Given the description of an element on the screen output the (x, y) to click on. 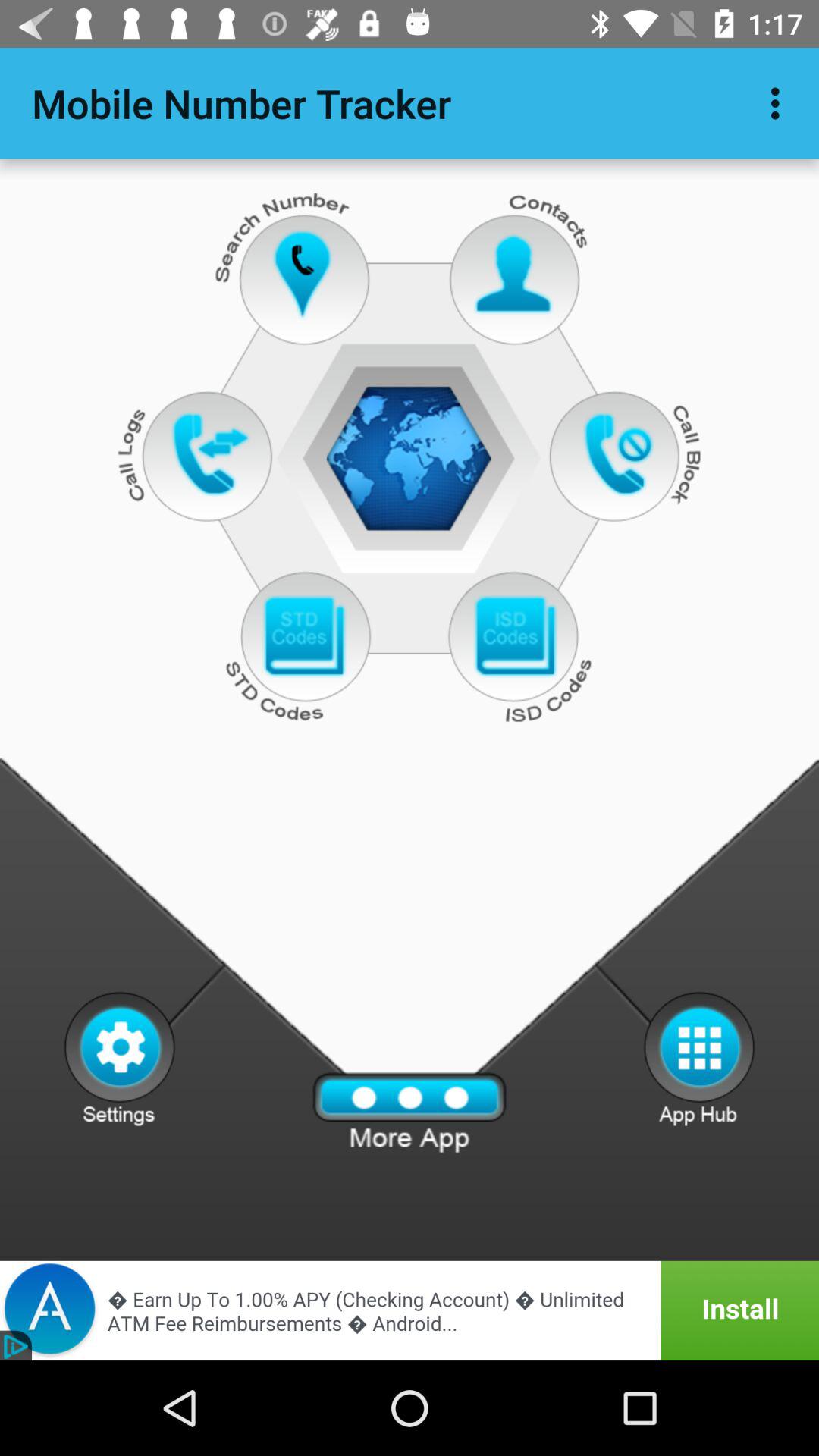
open settings (119, 1057)
